Given the description of an element on the screen output the (x, y) to click on. 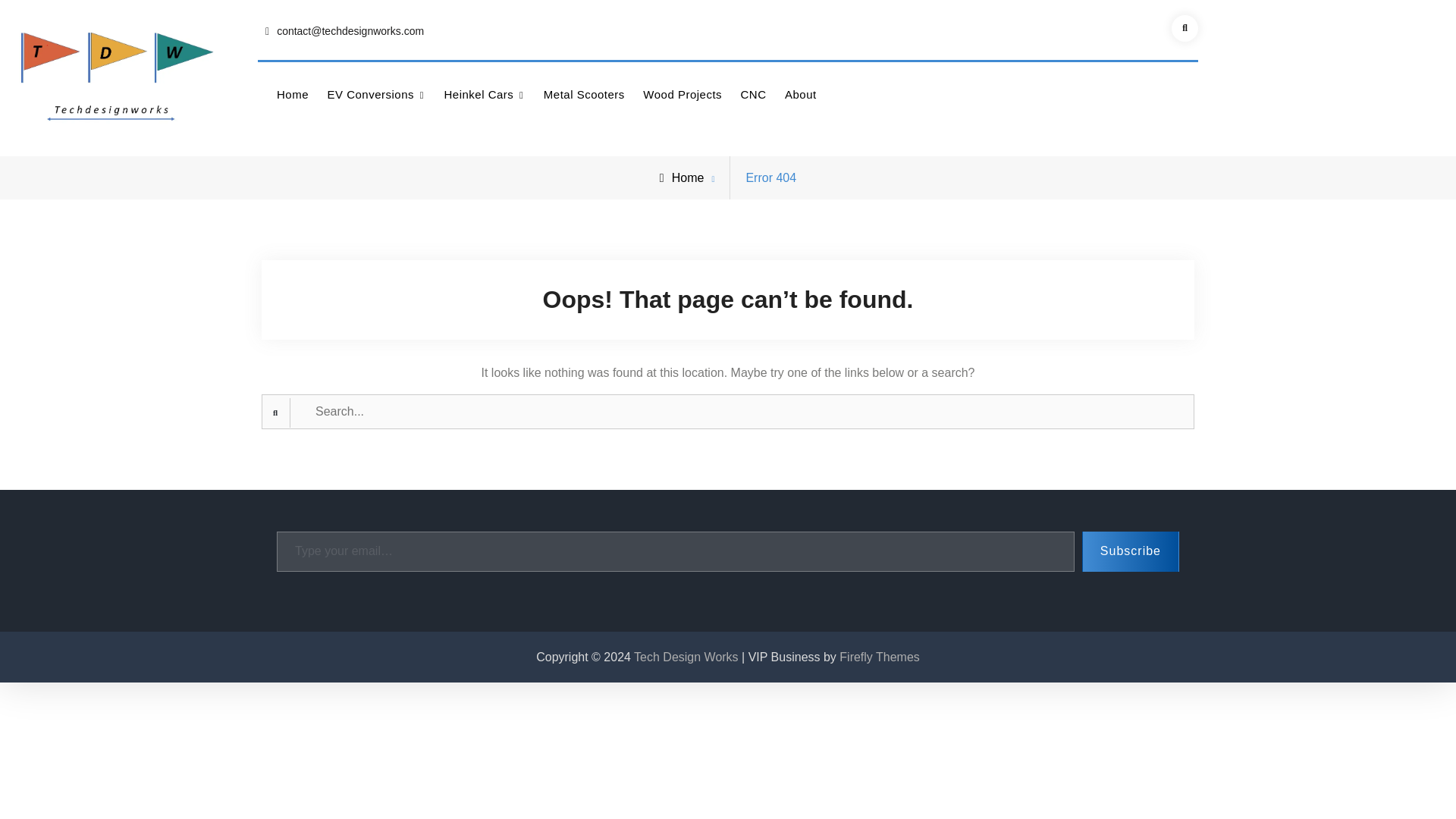
Wood Projects (681, 94)
EV Conversions (375, 94)
Please fill in this field. (675, 551)
CNC (753, 94)
Search (1185, 28)
Home (292, 94)
Home (681, 177)
Firefly Themes (880, 656)
Metal Scooters (583, 94)
Heinkel Cars (483, 94)
